Given the description of an element on the screen output the (x, y) to click on. 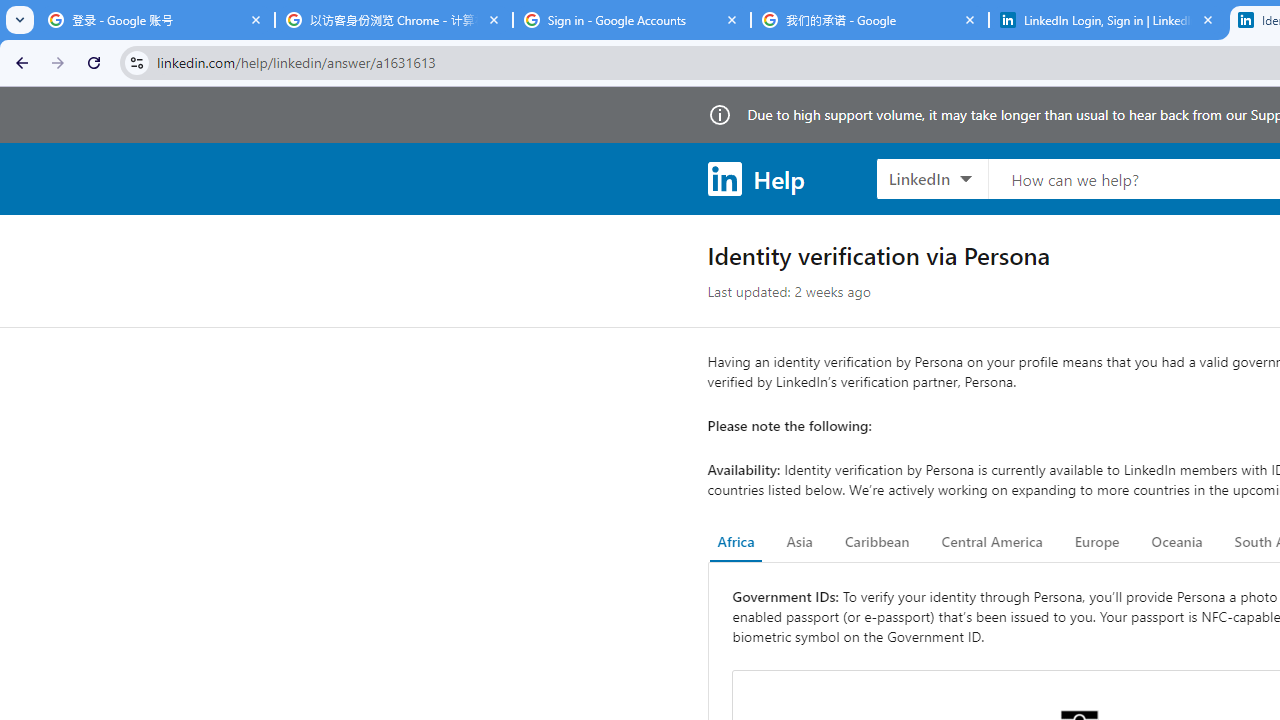
Asia (799, 542)
LinkedIn products to search, LinkedIn selected (932, 178)
Africa (735, 542)
Central America (991, 542)
Sign in - Google Accounts (632, 20)
LinkedIn Login, Sign in | LinkedIn (1108, 20)
